Given the description of an element on the screen output the (x, y) to click on. 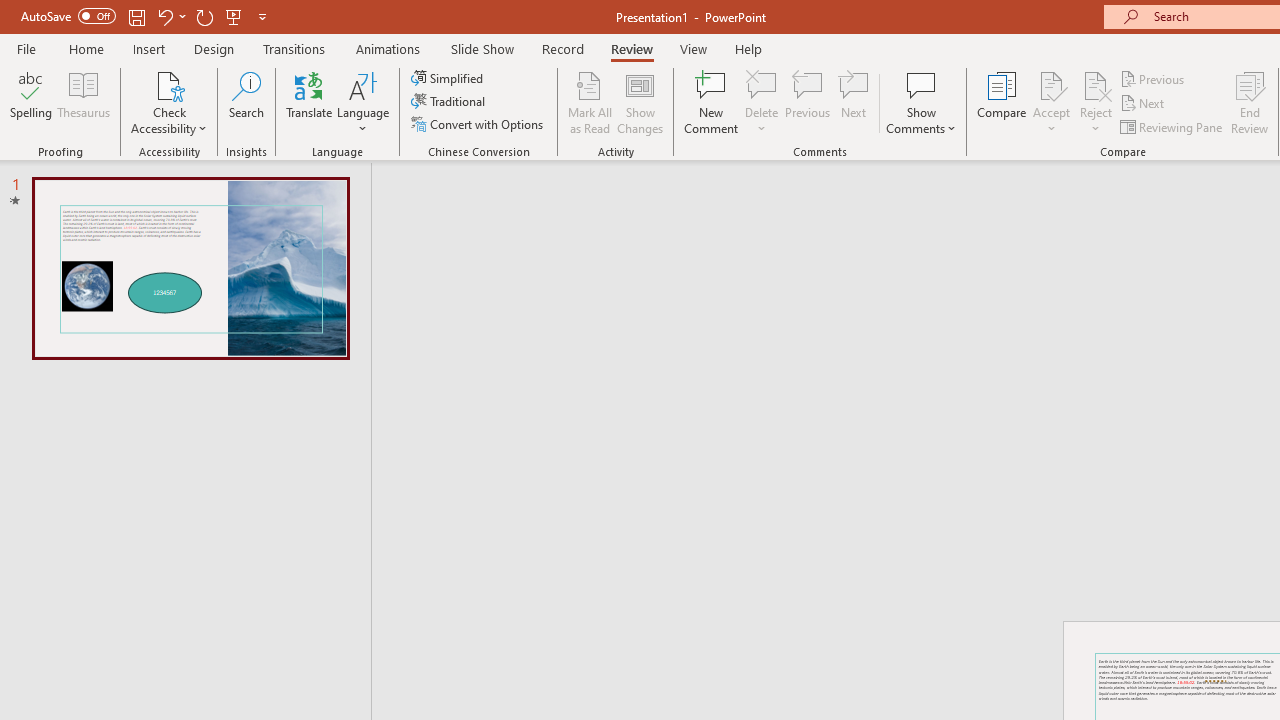
Compare (1002, 102)
New Comment (711, 102)
File Tab (26, 48)
Slide Show (481, 48)
System (10, 11)
Design (214, 48)
Review (631, 48)
View (693, 48)
Undo (170, 15)
Check Accessibility (169, 84)
Show Changes (639, 102)
Check Accessibility (169, 102)
Record (562, 48)
Reject Change (1096, 84)
Transitions (294, 48)
